Given the description of an element on the screen output the (x, y) to click on. 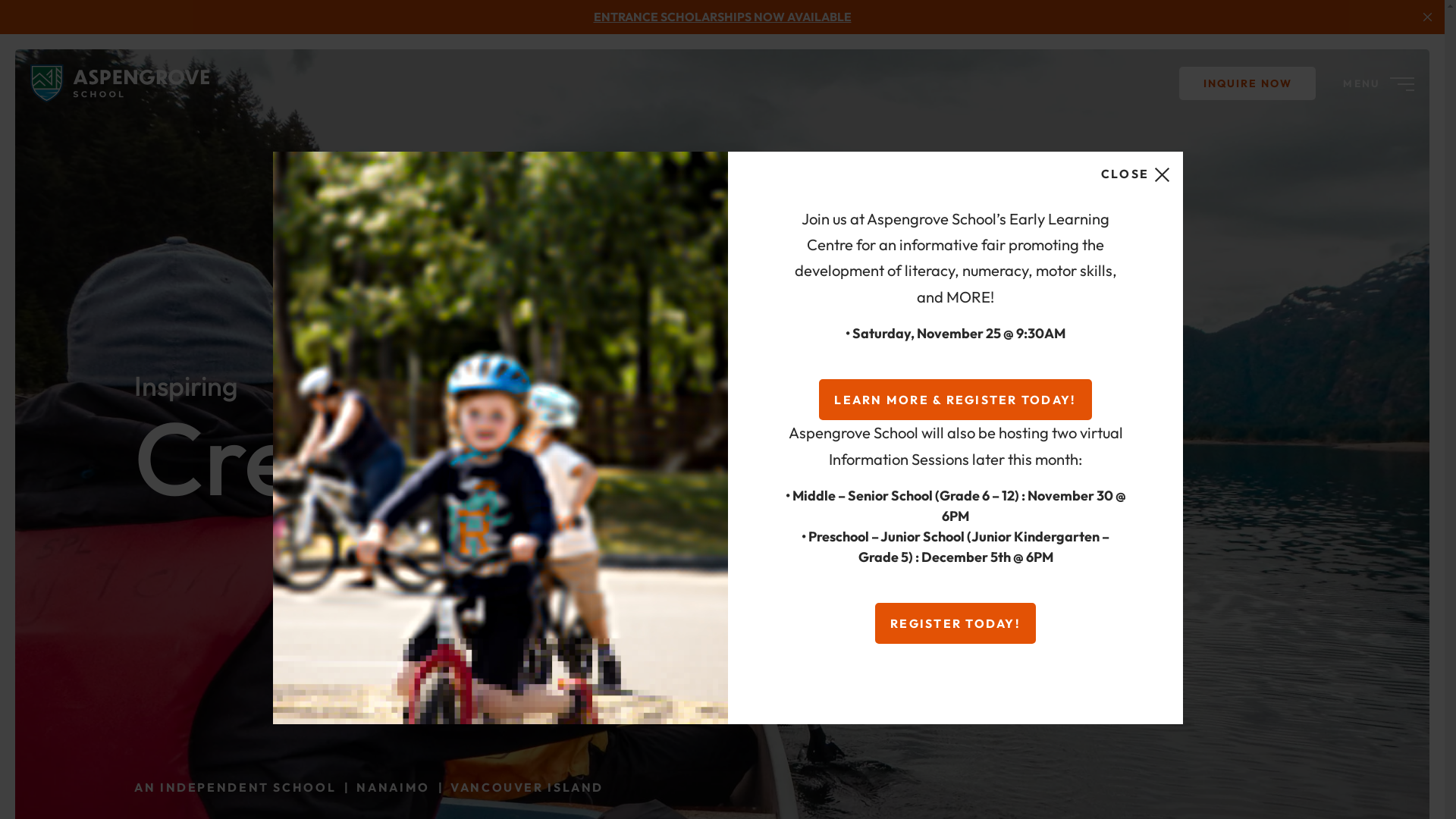
LEARN MORE & REGISTER TODAY! Element type: text (955, 399)
MENU Element type: text (1378, 83)
CLOSE close icon Element type: text (1136, 173)
Close Element type: text (1427, 16)
INQUIRE NOW Element type: text (1247, 83)
REGISTER TODAY! Element type: text (955, 622)
ENTRANCE SCHOLARSHIPS NOW AVAILABLE Element type: text (721, 16)
